Given the description of an element on the screen output the (x, y) to click on. 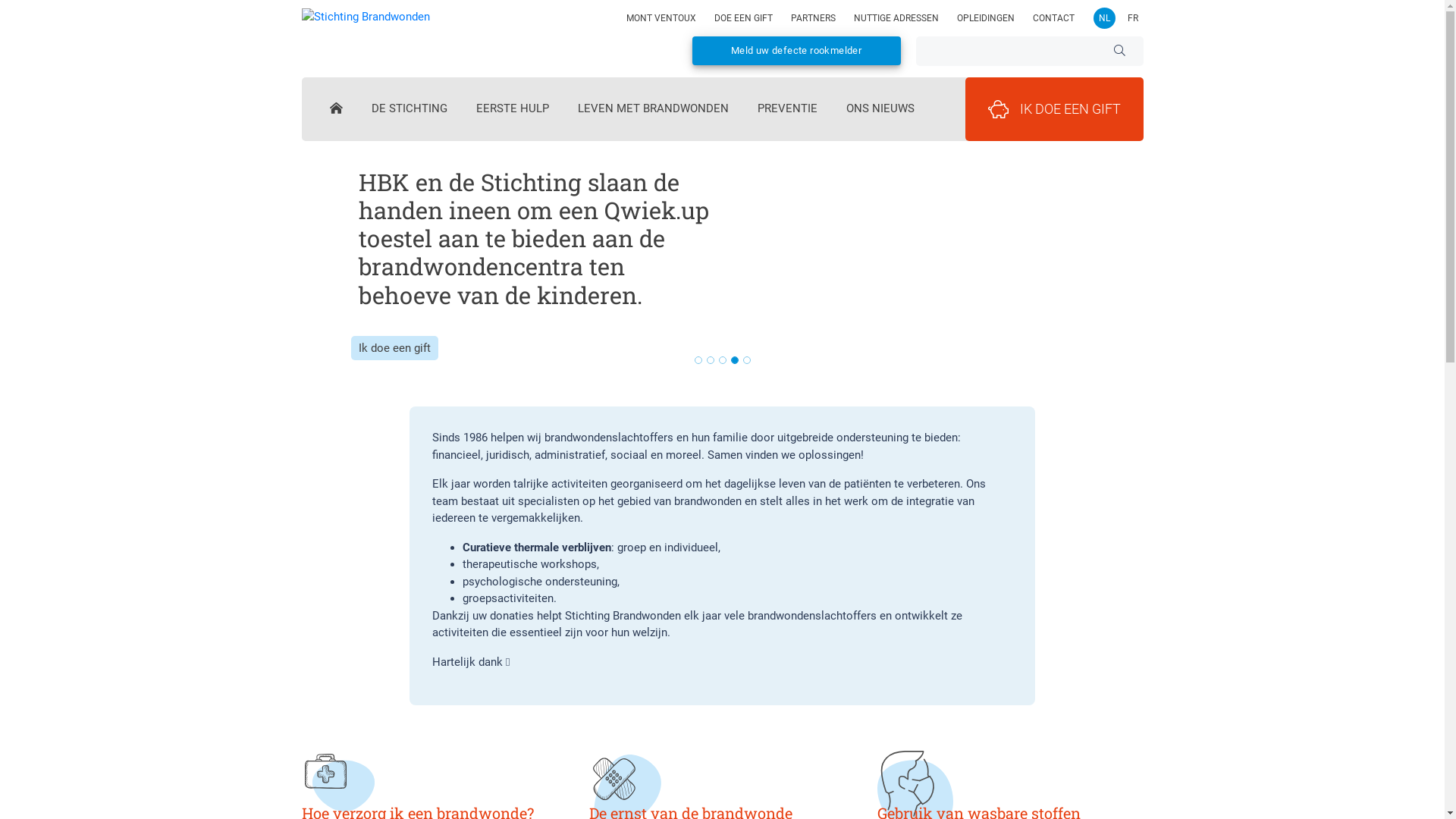
FR Element type: text (1132, 17)
NL Element type: text (1104, 17)
PARTNERS Element type: text (812, 17)
IK DOE EEN GIFT Element type: text (1053, 109)
Meld uw defecte rookmelder Element type: text (795, 50)
PREVENTIE Element type: text (786, 111)
LEVEN MET BRANDWONDEN Element type: text (652, 111)
MONT VENTOUX Element type: text (661, 17)
CONTACT Element type: text (1053, 17)
EERSTE HULP Element type: text (512, 111)
ONS NIEUWS Element type: text (880, 111)
OPLEIDINGEN Element type: text (985, 17)
Lees alle getuigenissen Element type: text (417, 319)
Meld uw defecte rookmelder Element type: text (795, 49)
DE STICHTING Element type: text (409, 111)
DOE EEN GIFT Element type: text (743, 17)
NUTTIGE ADRESSEN Element type: text (895, 17)
